Given the description of an element on the screen output the (x, y) to click on. 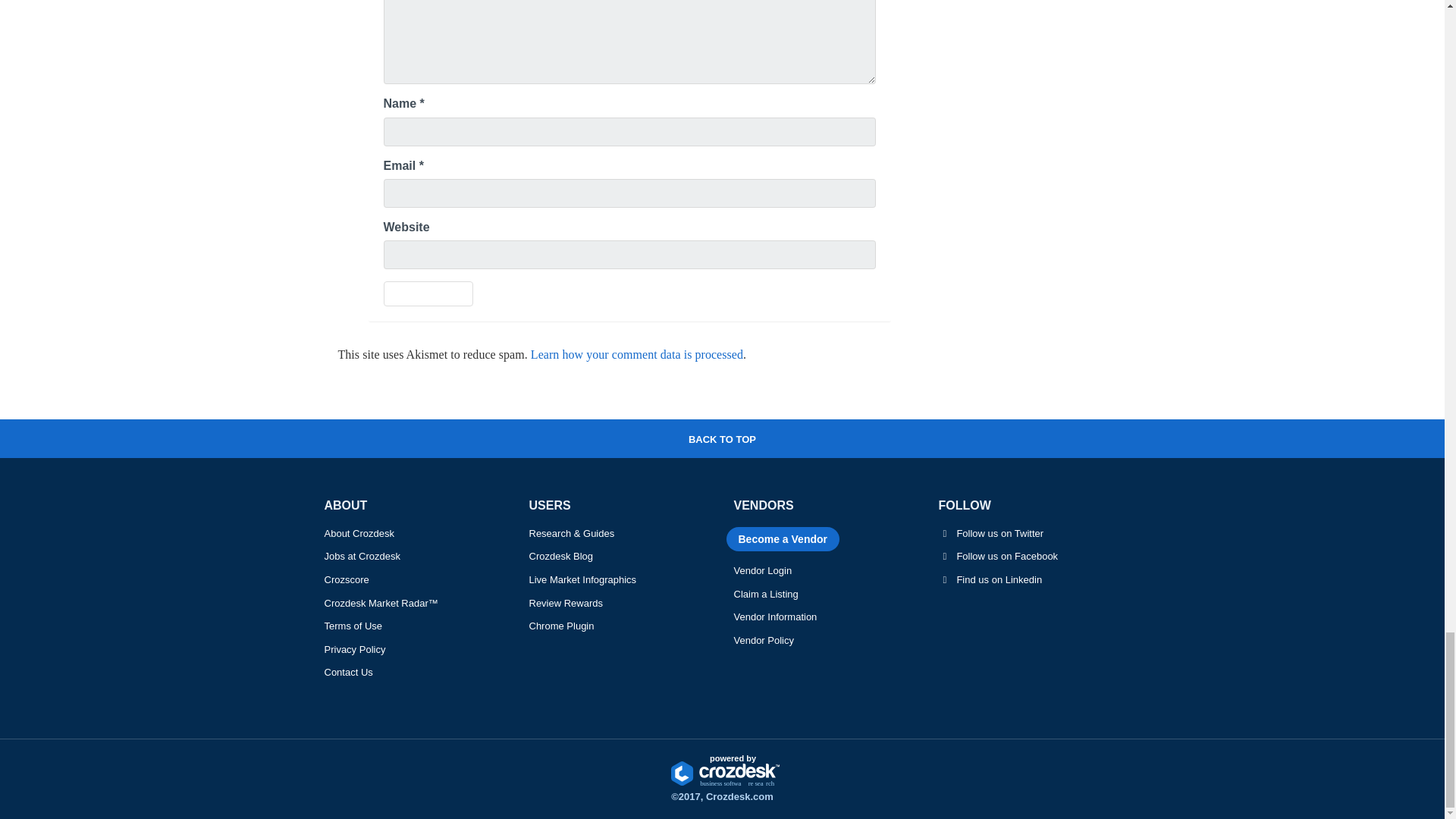
business software search (721, 773)
Post Comment (429, 293)
Learn how your comment data is processed (636, 354)
Post Comment (429, 293)
